Given the description of an element on the screen output the (x, y) to click on. 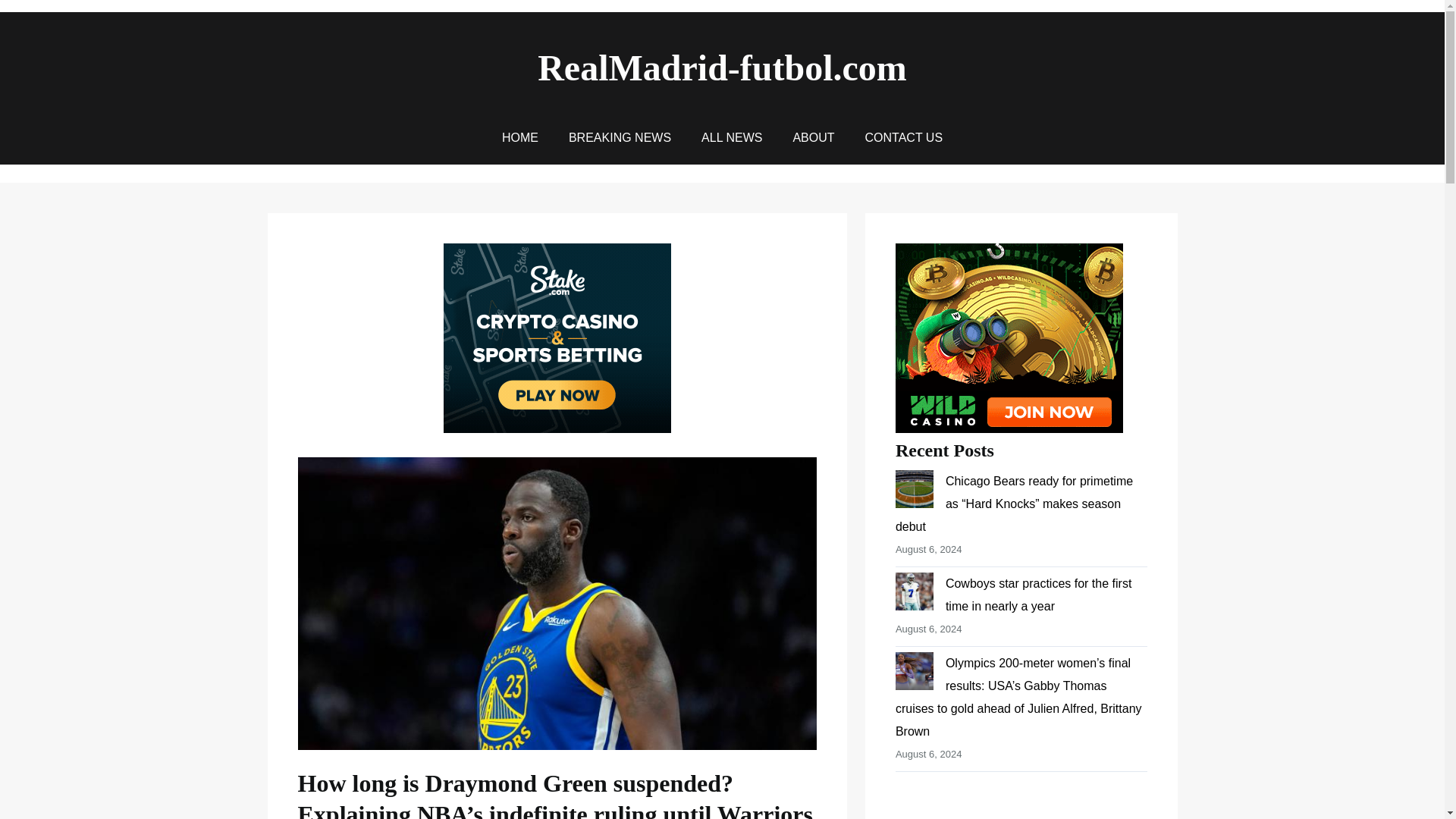
CONTACT US (903, 137)
ABOUT (813, 137)
Cowboys star practices for the first time in nearly a year (1037, 594)
BREAKING NEWS (620, 137)
ALL NEWS (731, 137)
RealMadrid-futbol.com (722, 67)
HOME (520, 137)
